Given the description of an element on the screen output the (x, y) to click on. 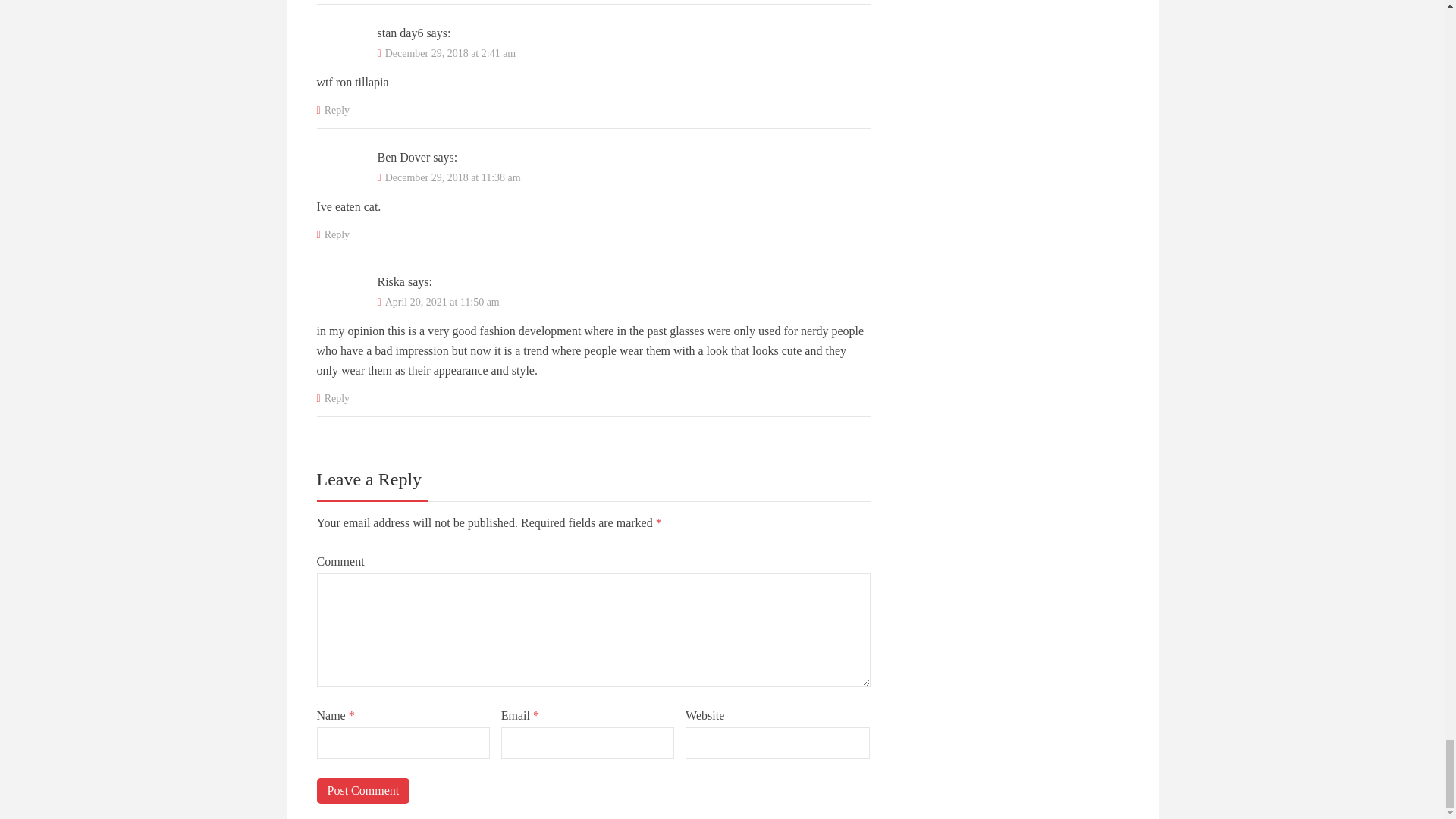
December 29, 2018 at 2:41 am (450, 52)
Post Comment (363, 790)
Post Comment (363, 790)
December 29, 2018 at 11:38 am (453, 177)
Reply (333, 110)
April 20, 2021 at 11:50 am (442, 301)
Reply (333, 398)
Reply (333, 234)
